Given the description of an element on the screen output the (x, y) to click on. 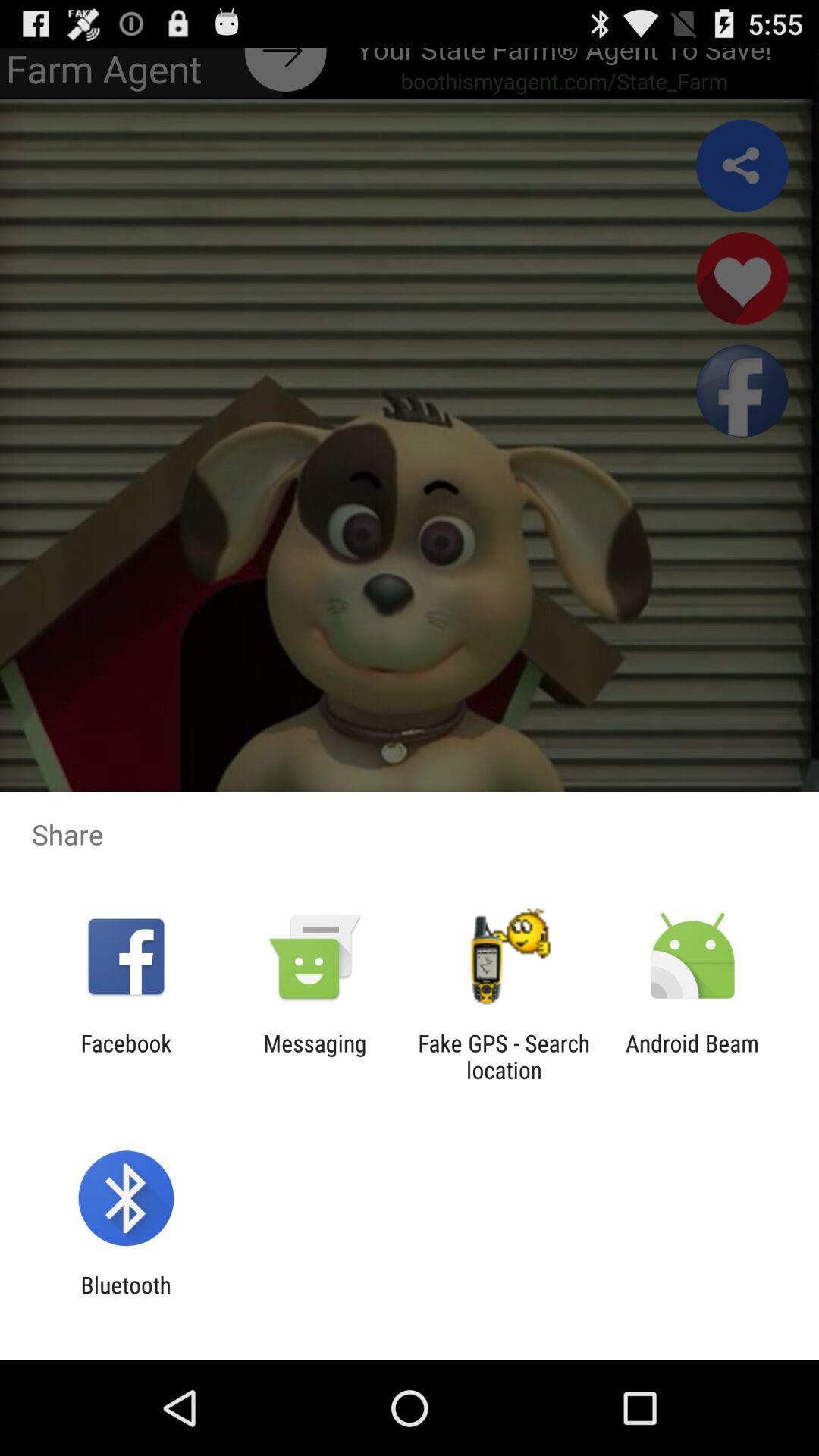
launch icon to the left of the android beam item (503, 1056)
